Given the description of an element on the screen output the (x, y) to click on. 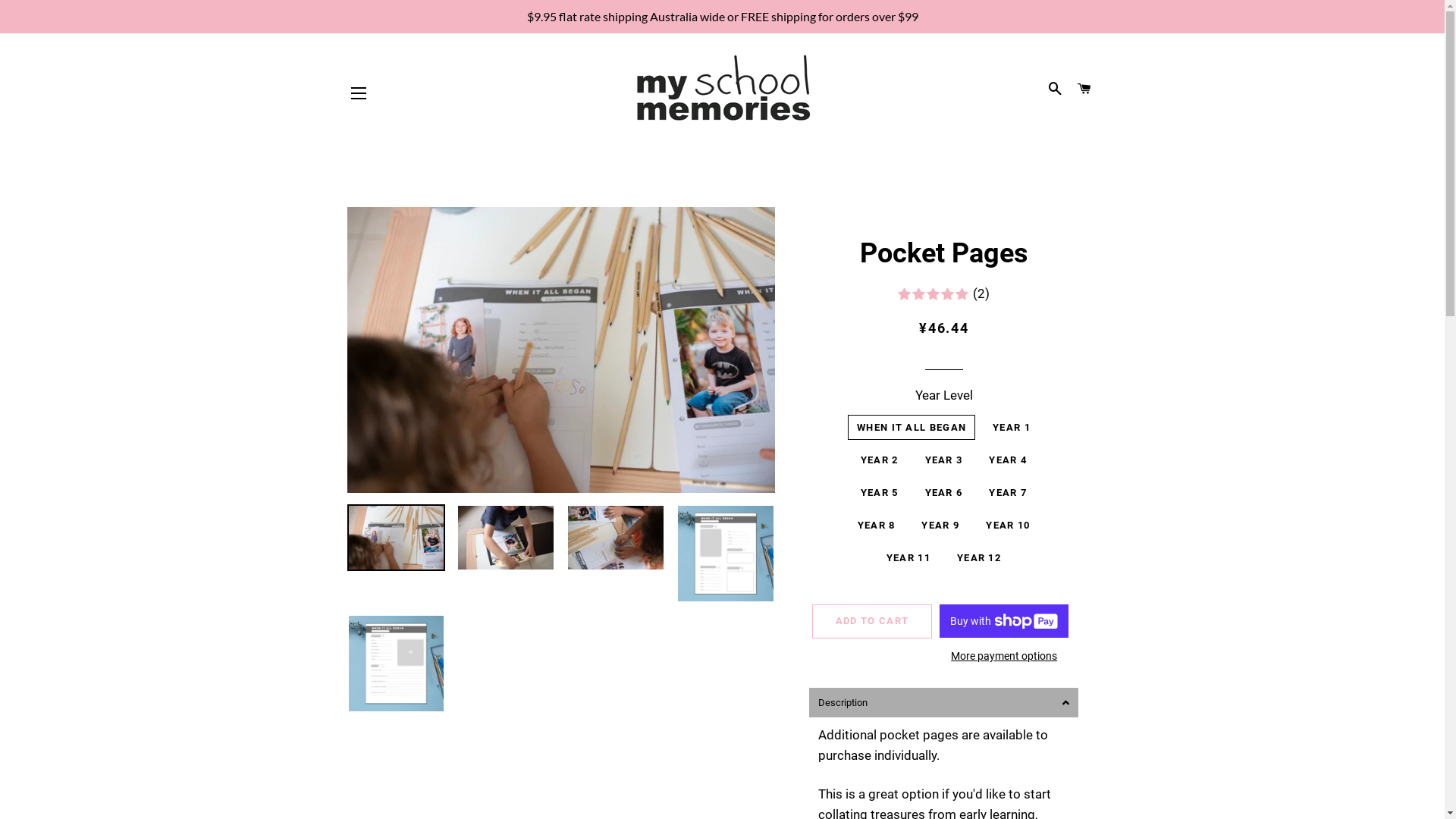
 (2) Element type: text (943, 294)
More payment options Element type: text (1003, 656)
SEARCH Element type: text (1055, 89)
CART Element type: text (1084, 89)
ADD TO CART Element type: text (871, 620)
SITE NAVIGATION Element type: text (358, 93)
